Given the description of an element on the screen output the (x, y) to click on. 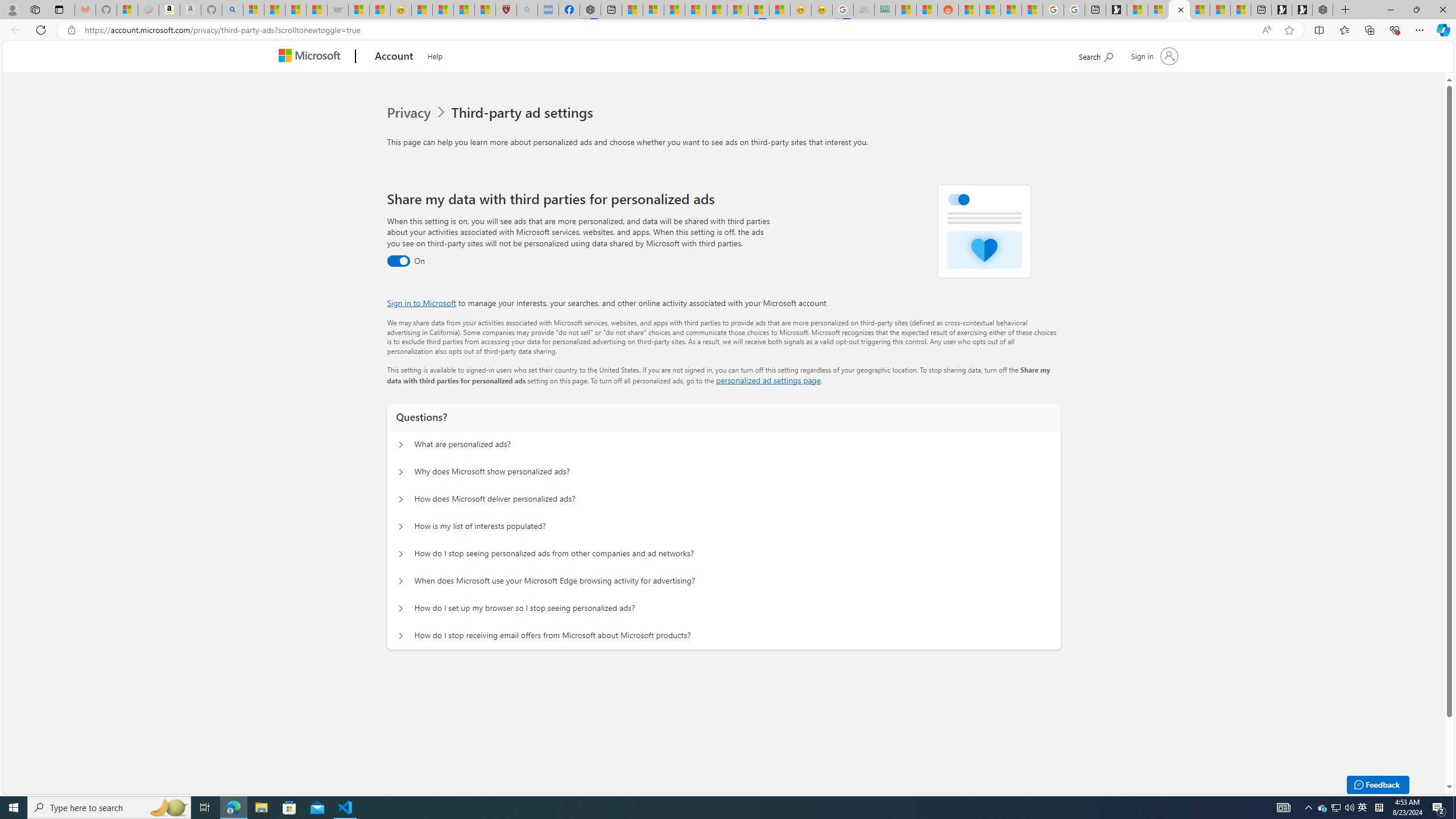
Sign in to Microsoft (422, 302)
Questions? Why does Microsoft show personalized ads? (401, 472)
